Given the description of an element on the screen output the (x, y) to click on. 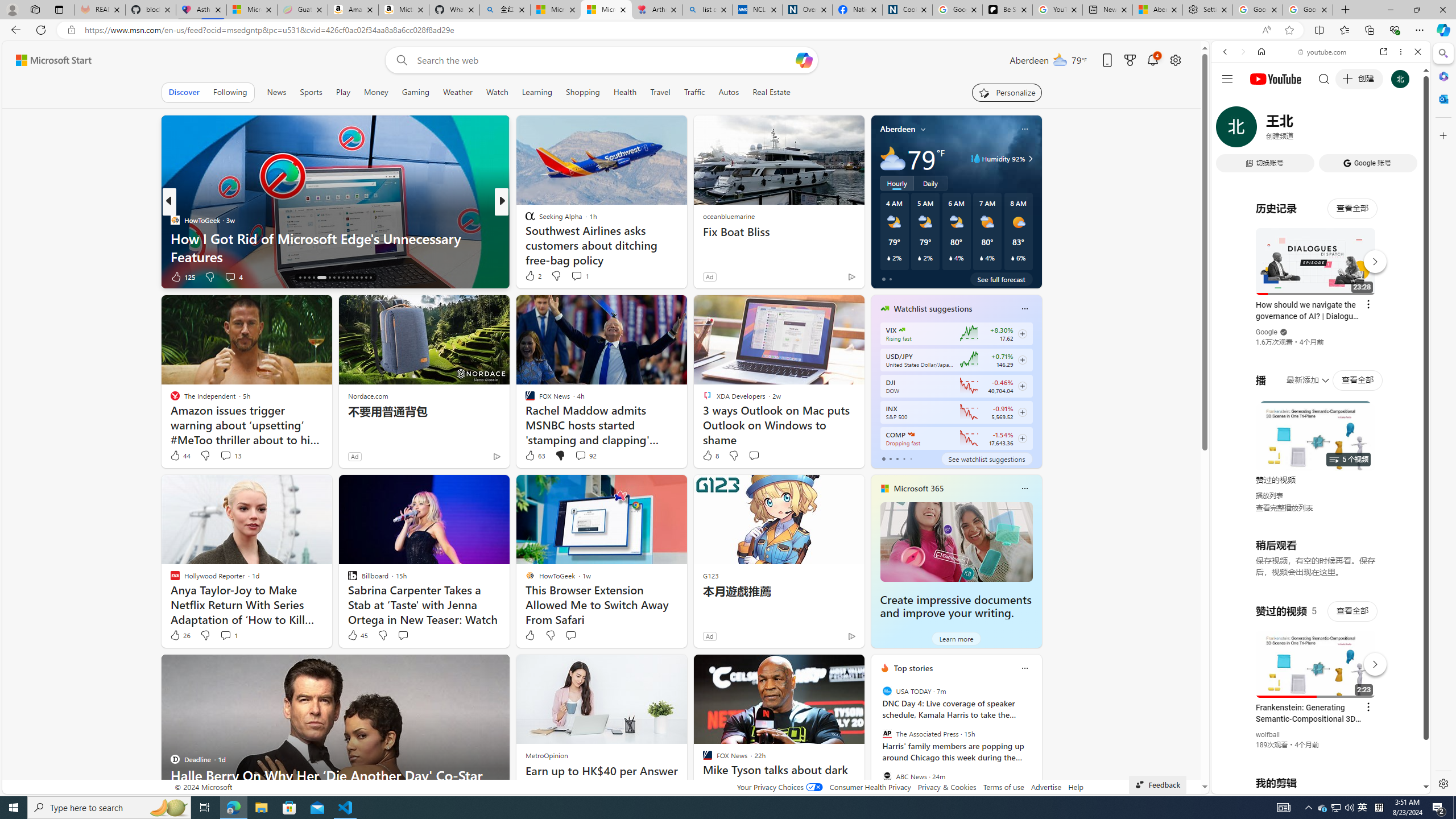
Class: weather-current-precipitation-glyph (1012, 257)
Create impressive documents and improve your writing. (955, 606)
AutomationID: tab-19 (313, 277)
Show More Music (1390, 310)
oceanbluemarine (727, 215)
View comments 13 Comment (225, 455)
Class: weather-arrow-glyph (1029, 158)
Nordace.com (367, 395)
View comments 7 Comment (580, 276)
